Given the description of an element on the screen output the (x, y) to click on. 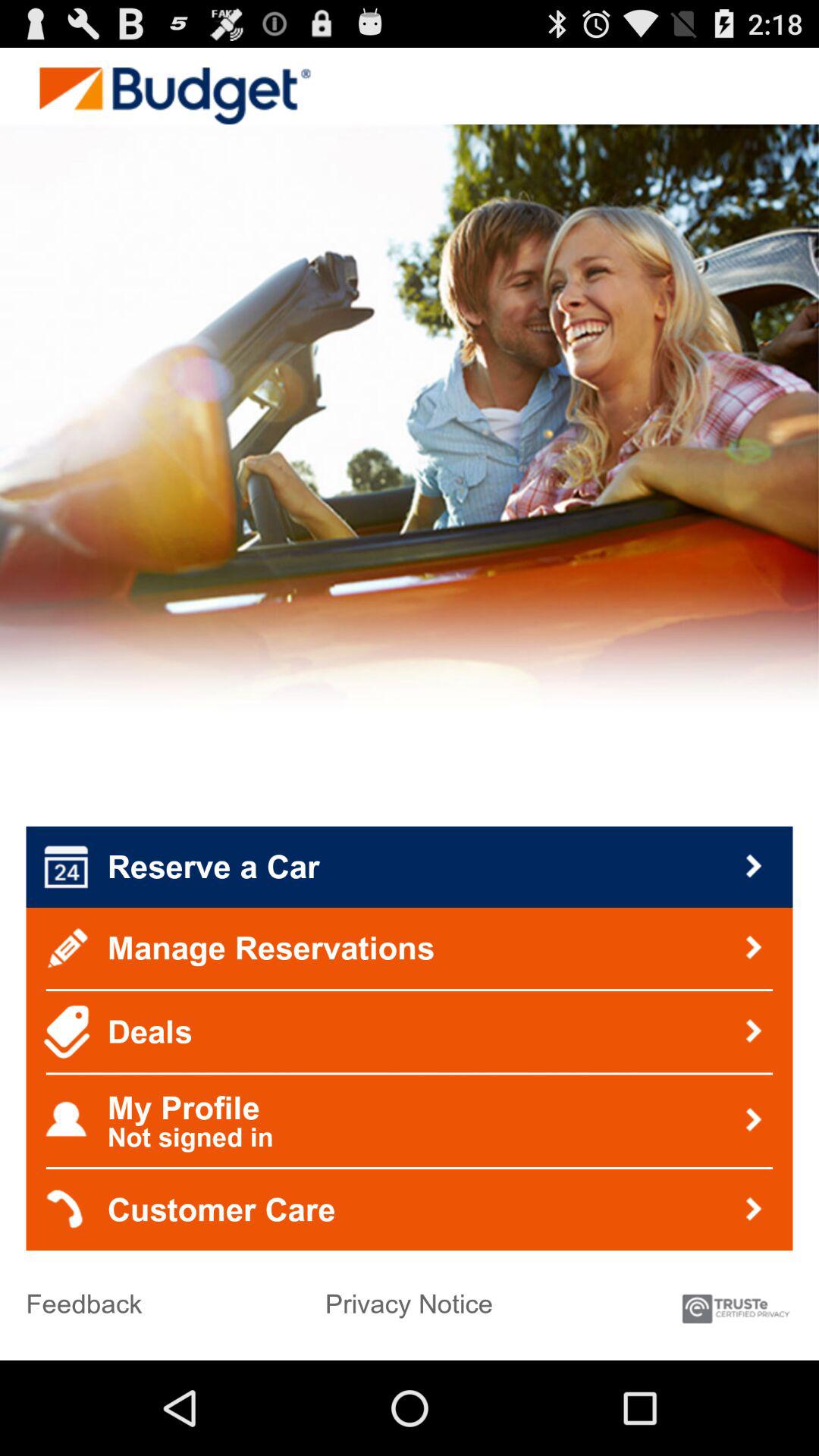
turn off icon above the feedback item (409, 1209)
